Given the description of an element on the screen output the (x, y) to click on. 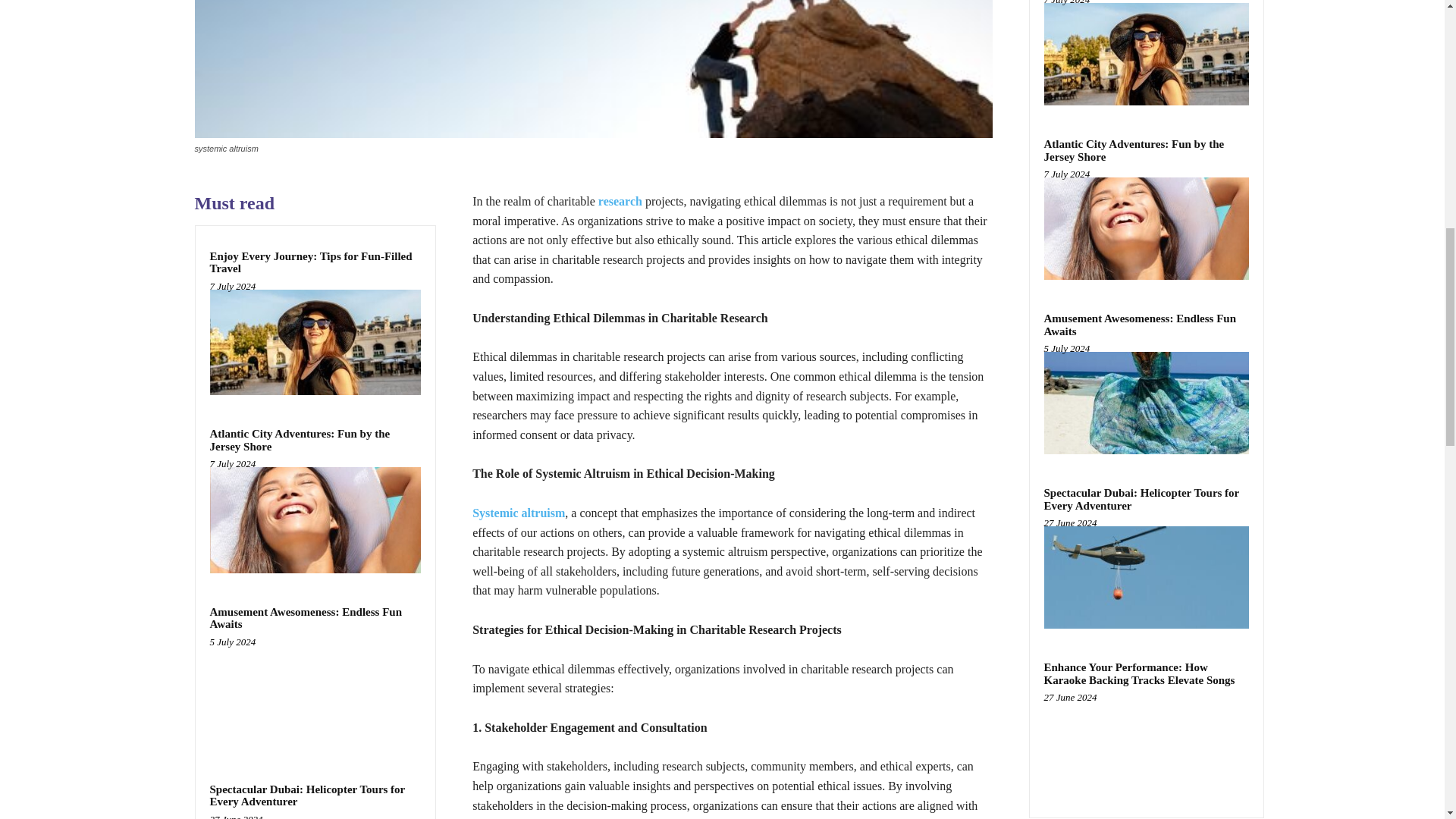
Enjoy Every Journey: Tips for Fun-Filled Travel (314, 341)
systemic altruism (592, 69)
Enjoy Every Journey: Tips for Fun-Filled Travel (310, 262)
